Given the description of an element on the screen output the (x, y) to click on. 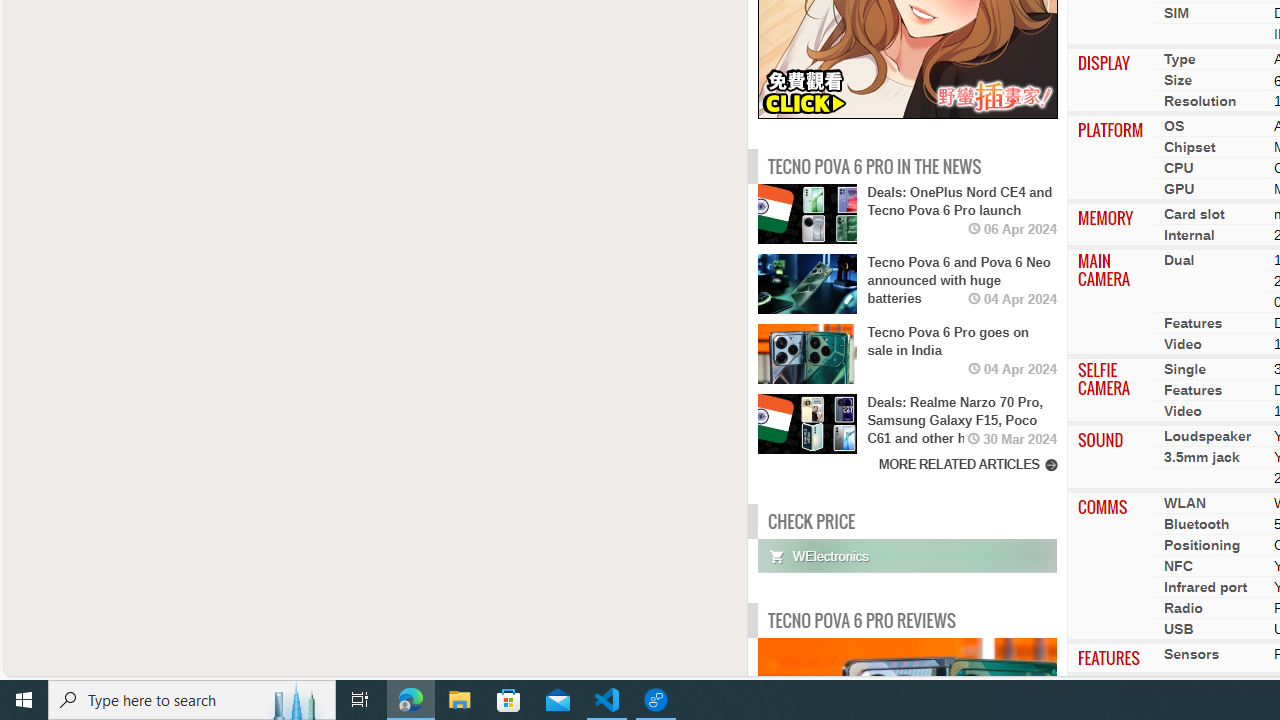
Positioning (1202, 545)
WLAN (1184, 503)
Size (1177, 79)
Dual (1179, 260)
Chipset (1189, 147)
Type (1179, 57)
OS (1174, 126)
Infrared port (1205, 587)
Single (1185, 369)
Sensors (1191, 654)
